Given the description of an element on the screen output the (x, y) to click on. 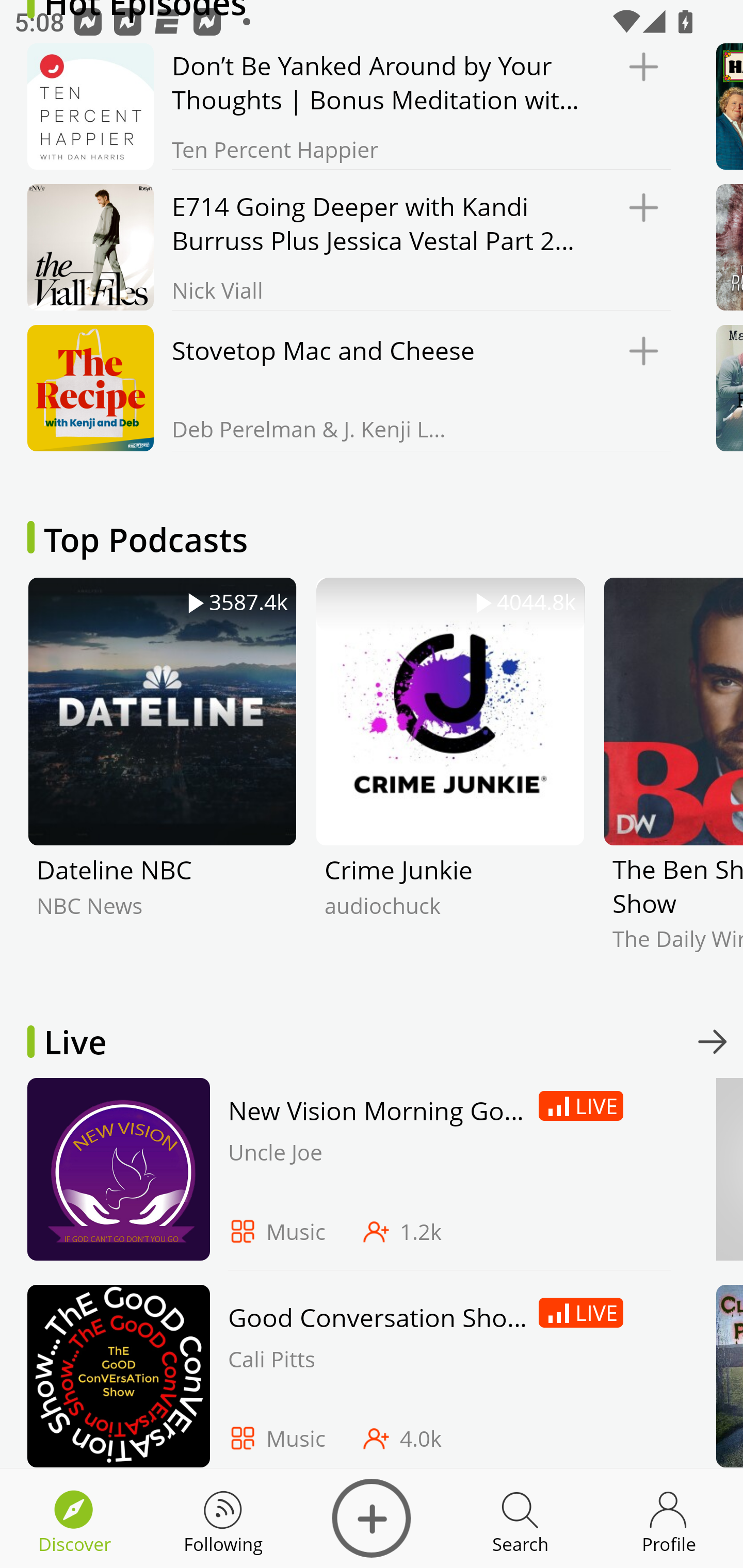
3587.4k Dateline NBC NBC News (162, 779)
4044.8k Crime Junkie audiochuck (450, 779)
The Ben Shapiro Show The Daily Wire (673, 779)
Good Conversation Show. LIVE Cali Pitts Music 4.0k (344, 1375)
Discover Following (222, 1518)
Discover (371, 1518)
Discover Search (519, 1518)
Discover Profile (668, 1518)
